Given the description of an element on the screen output the (x, y) to click on. 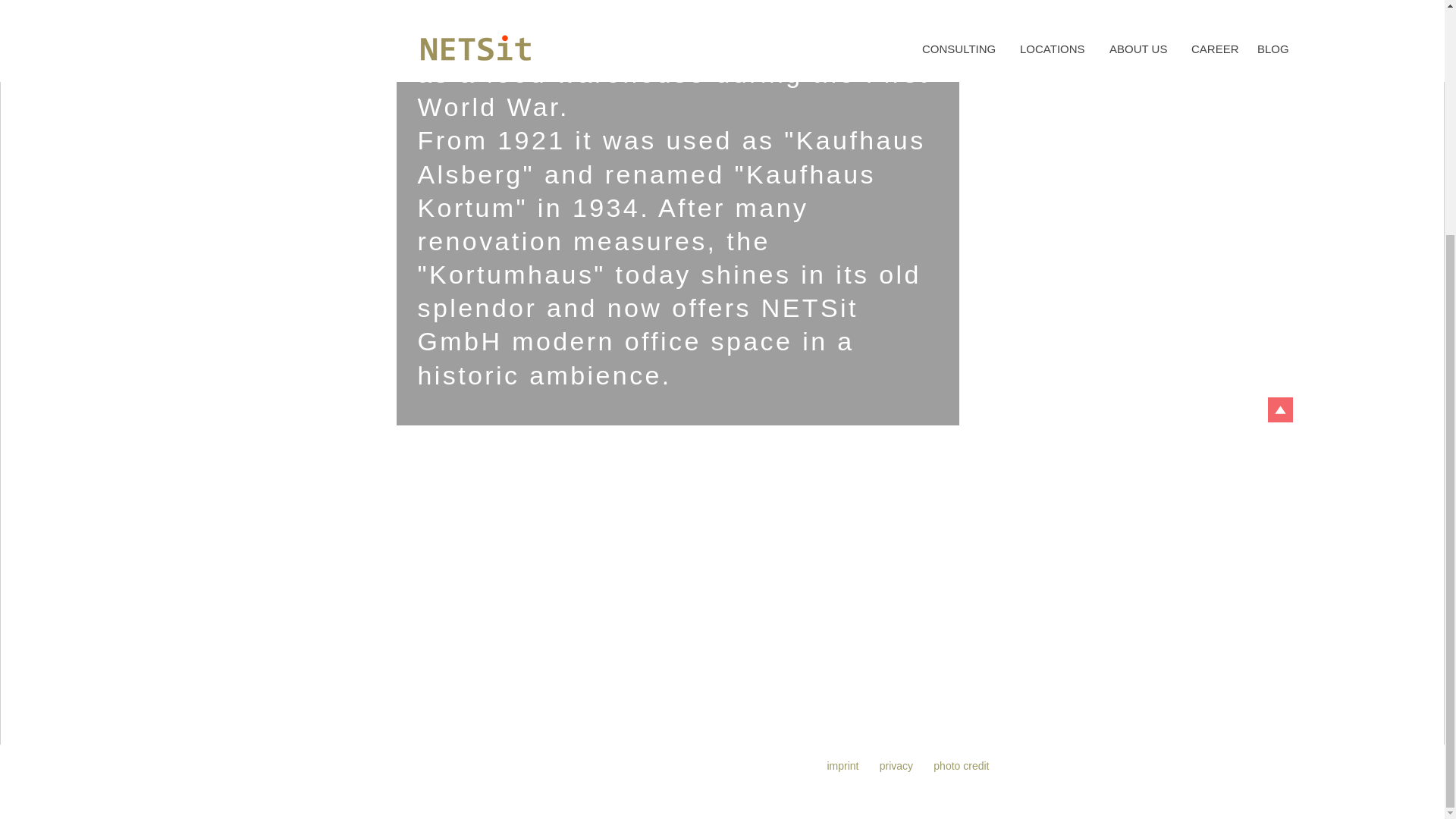
imprint (843, 445)
photo credit (960, 445)
privacy (895, 445)
